Given the description of an element on the screen output the (x, y) to click on. 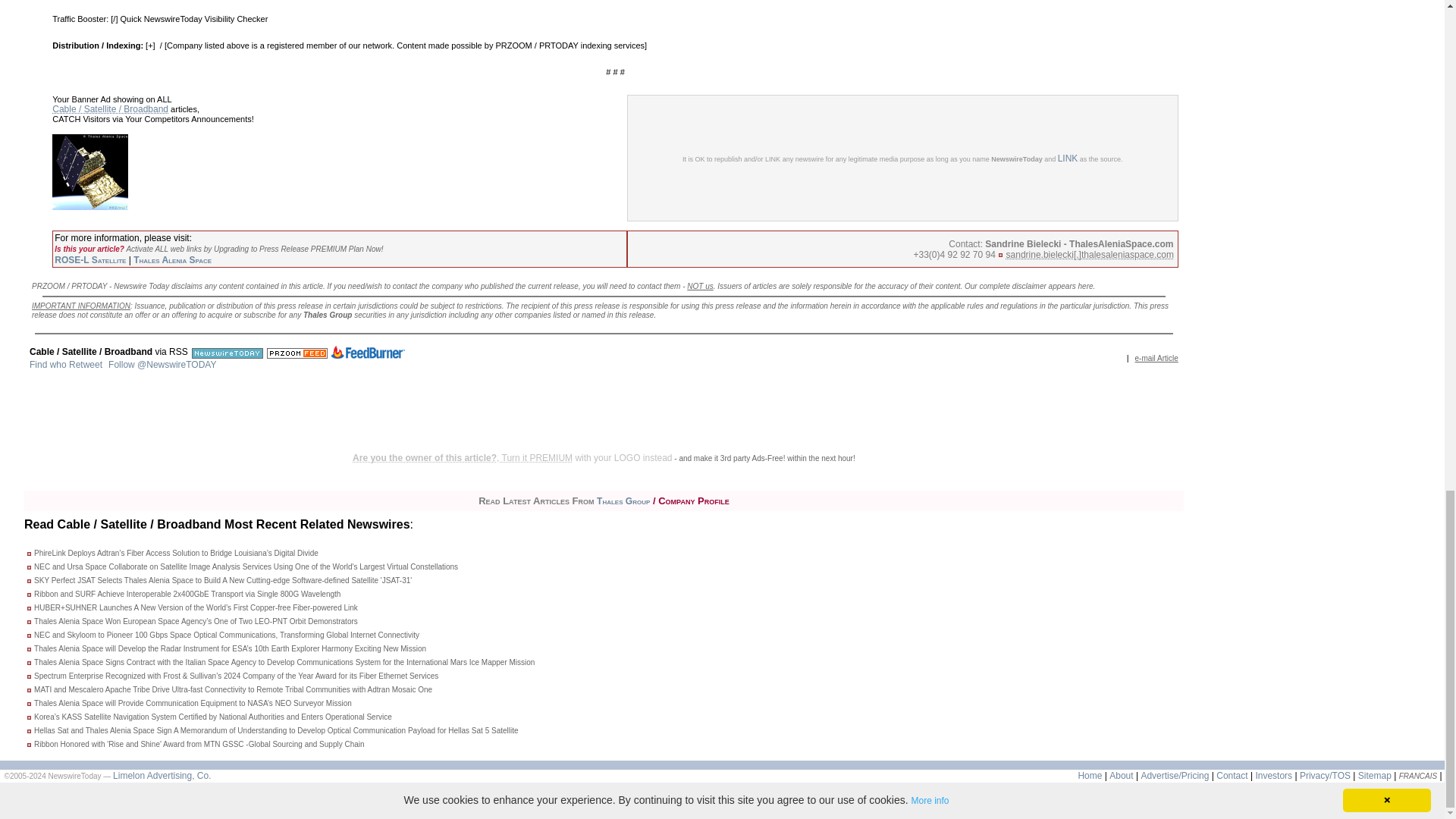
LINK (1068, 158)
Quick NewswireToday (161, 18)
ROSE-L Satellite (90, 259)
here (1085, 285)
Thales Alenia Space (172, 259)
Find who Retweet (65, 364)
e-mail Article (1156, 357)
